Given the description of an element on the screen output the (x, y) to click on. 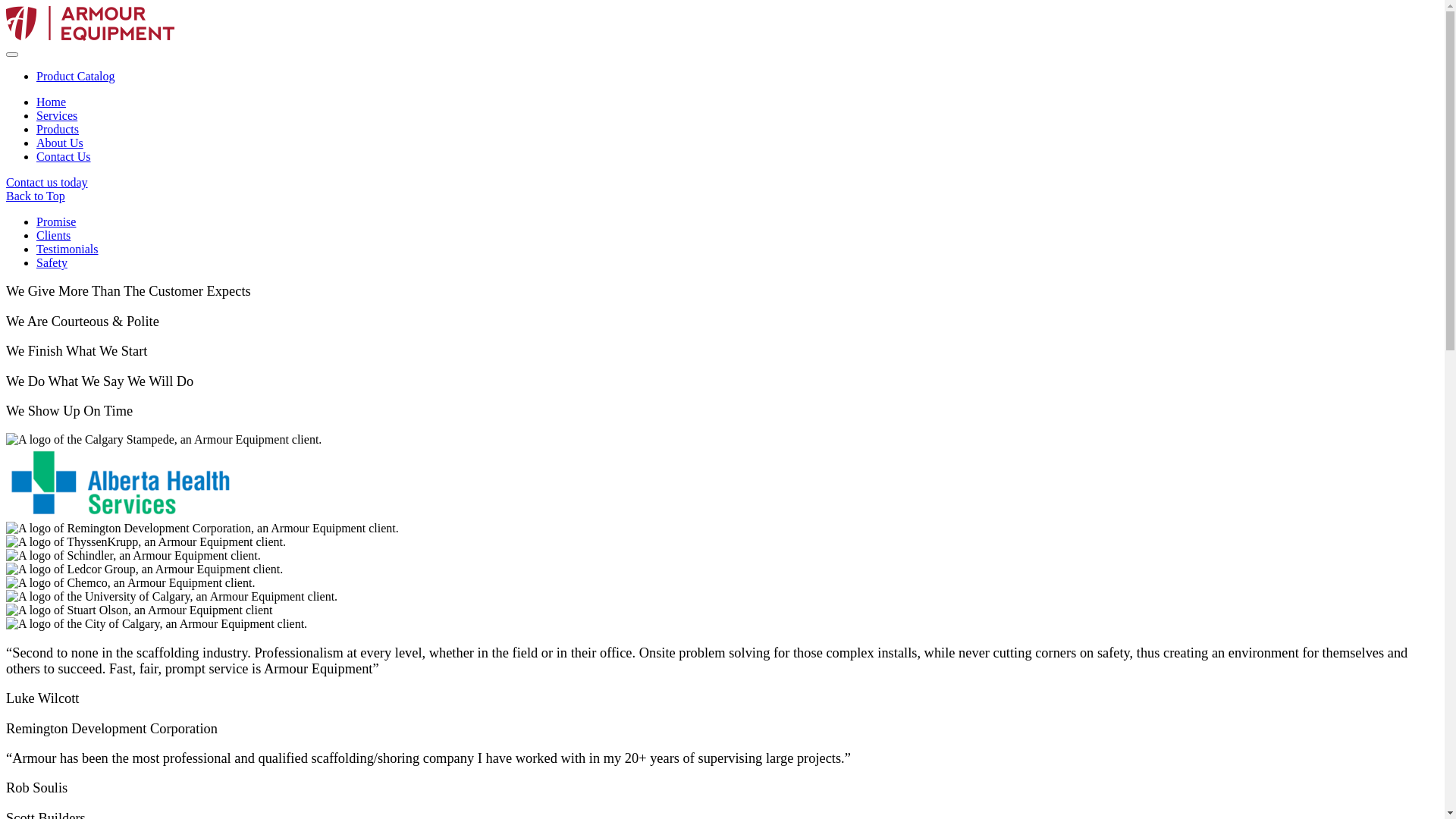
Clients Element type: text (53, 235)
Home Element type: text (50, 101)
Products Element type: text (57, 128)
Promise Element type: text (55, 221)
Services Element type: text (56, 115)
About Us Element type: text (59, 142)
Product Catalog Element type: text (75, 75)
Contact Us Element type: text (63, 156)
Back to Top Element type: text (722, 195)
Contact us today Element type: text (46, 181)
Safety Element type: text (51, 262)
Testimonials Element type: text (67, 248)
